Given the description of an element on the screen output the (x, y) to click on. 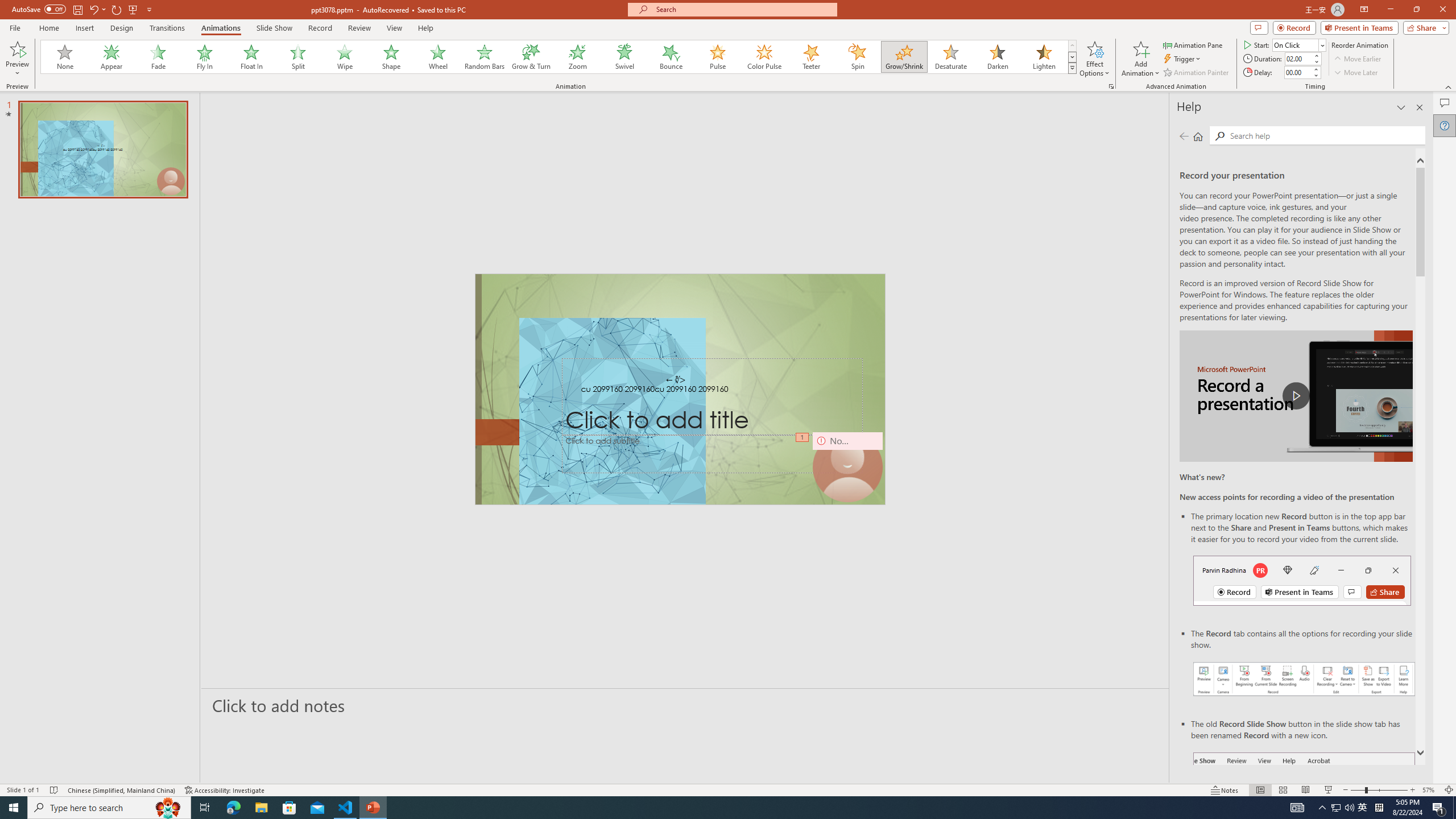
Darken (997, 56)
Record your presentations screenshot one (1304, 678)
Effect Options (1094, 58)
Add Animation (1141, 58)
Animation Delay (1297, 72)
Random Bars (484, 56)
